Given the description of an element on the screen output the (x, y) to click on. 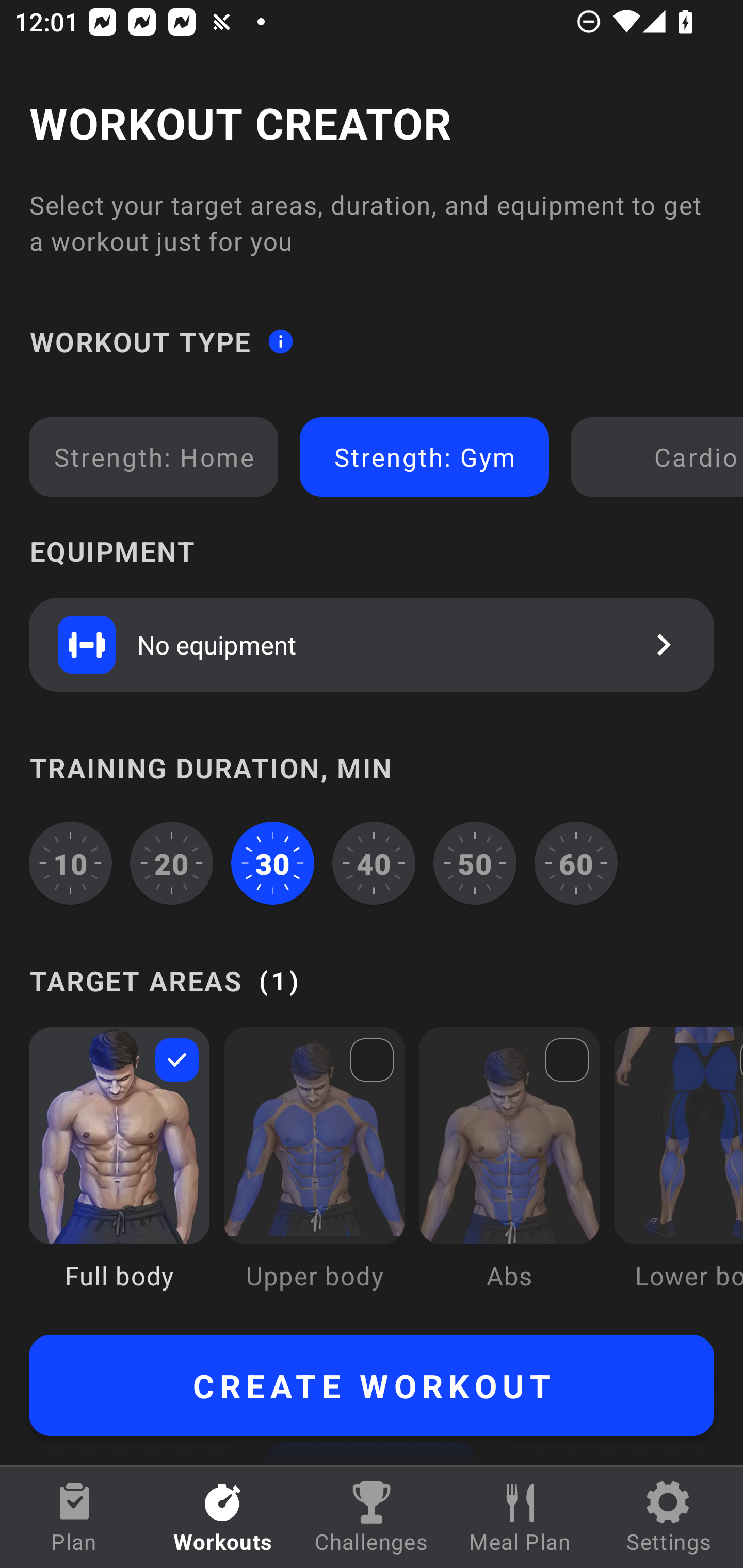
Workout type information button (280, 340)
Strength: Home (153, 457)
Cardio (660, 457)
No equipment (371, 644)
10 (70, 863)
20 (171, 863)
30 (272, 863)
40 (373, 863)
50 (474, 863)
60 (575, 863)
Upper body (313, 1172)
Abs (509, 1172)
Lower body (678, 1172)
CREATE WORKOUT (371, 1385)
 Plan  (74, 1517)
 Challenges  (371, 1517)
 Meal Plan  (519, 1517)
 Settings  (668, 1517)
